Given the description of an element on the screen output the (x, y) to click on. 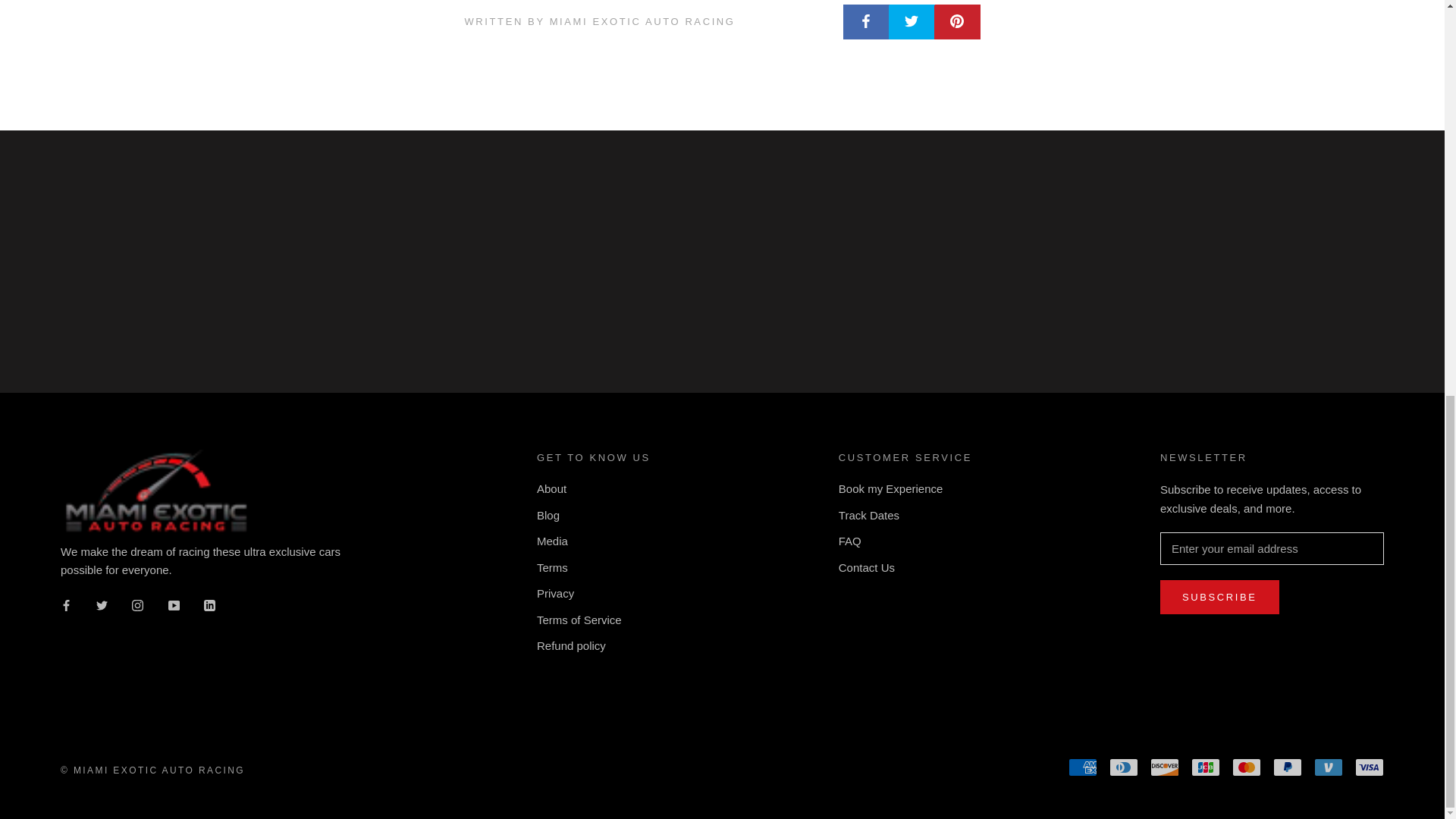
PayPal (1286, 767)
JCB (1205, 767)
American Express (1082, 767)
Mastercard (1245, 767)
Diners Club (1123, 767)
Visa (1369, 767)
Venmo (1328, 767)
Discover (1164, 767)
